Given the description of an element on the screen output the (x, y) to click on. 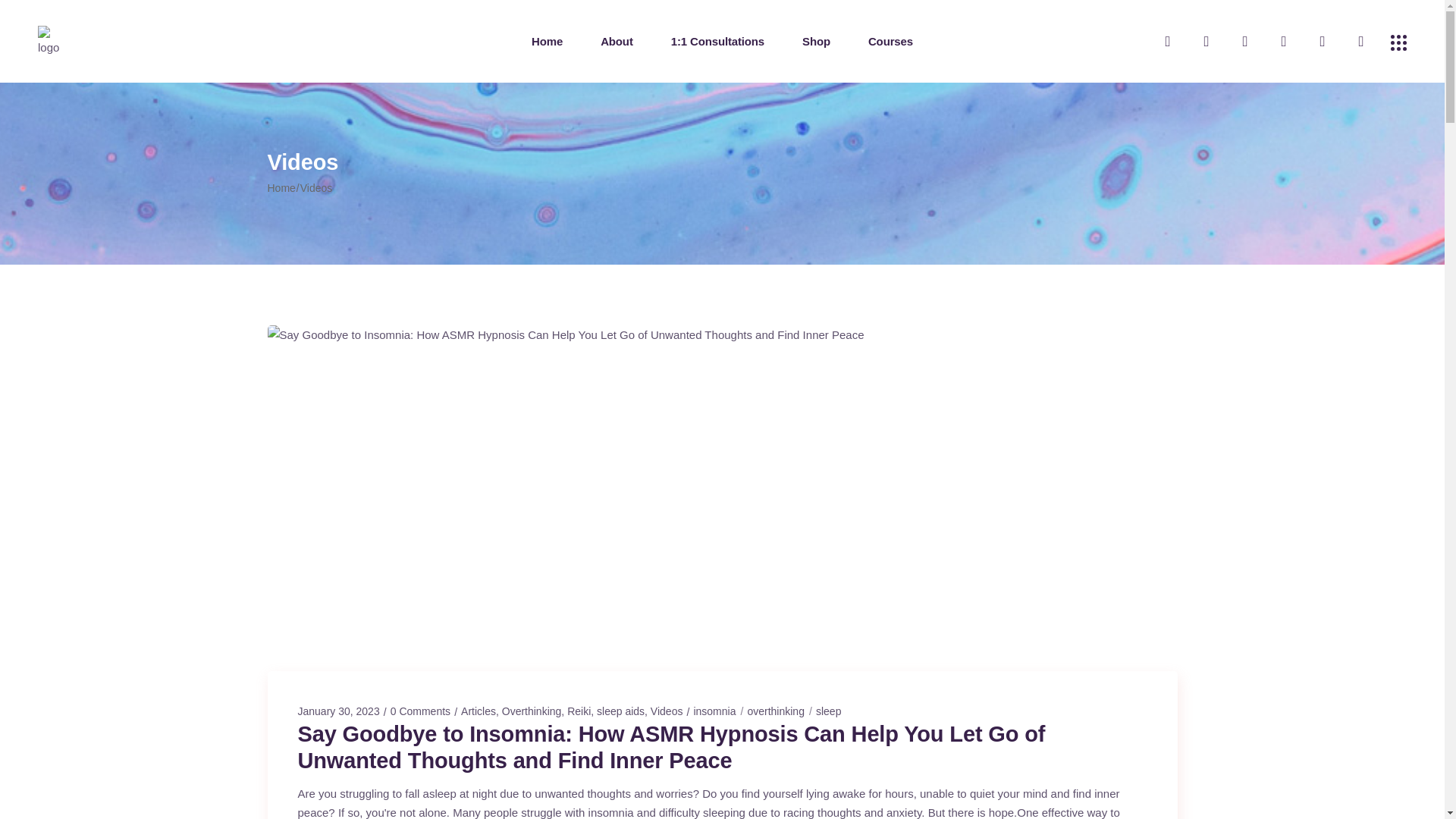
1:1 Consultations (717, 41)
